Given the description of an element on the screen output the (x, y) to click on. 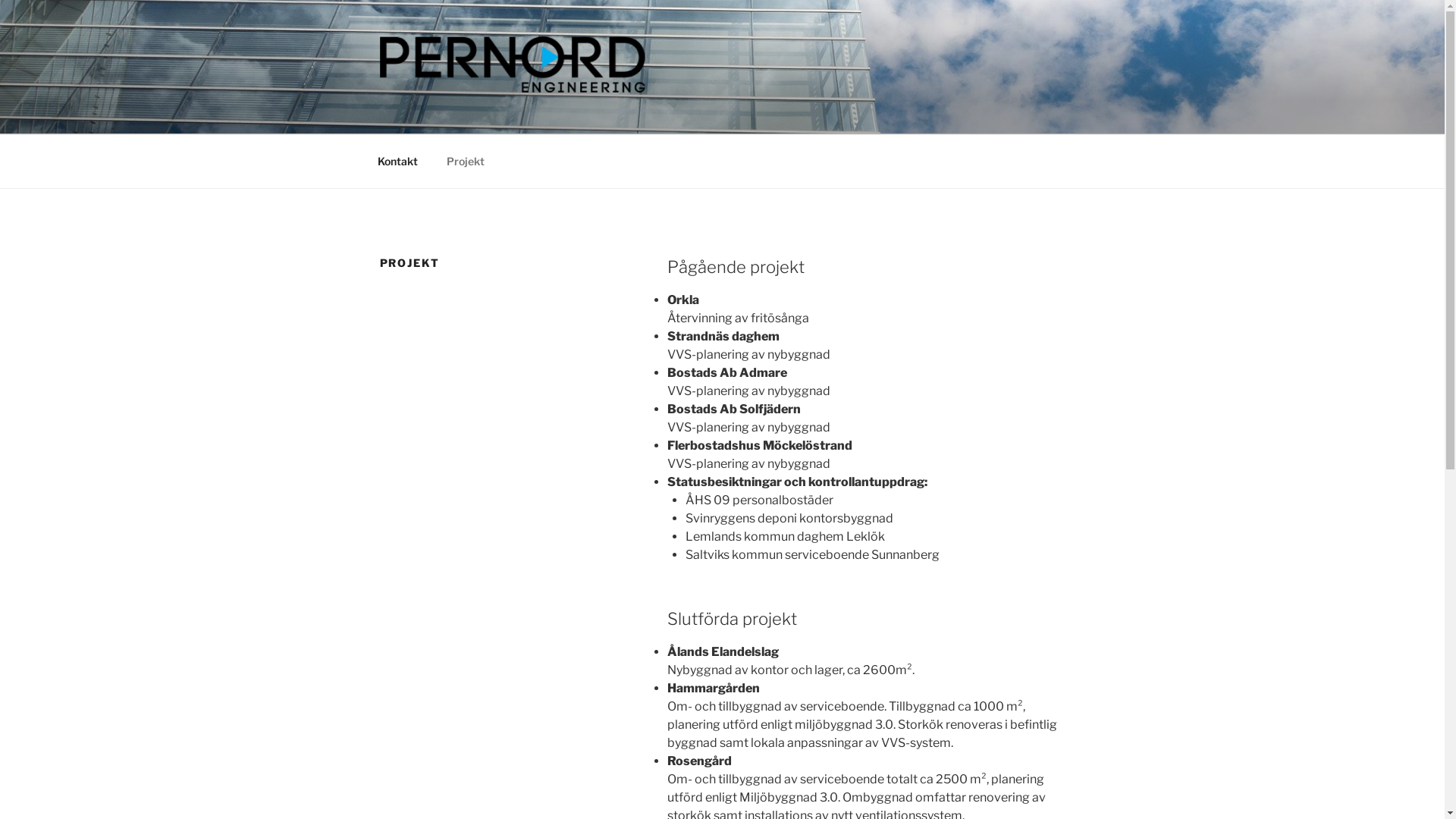
PERNORD Element type: text (456, 114)
Kontakt Element type: text (397, 160)
Projekt Element type: text (465, 160)
